Given the description of an element on the screen output the (x, y) to click on. 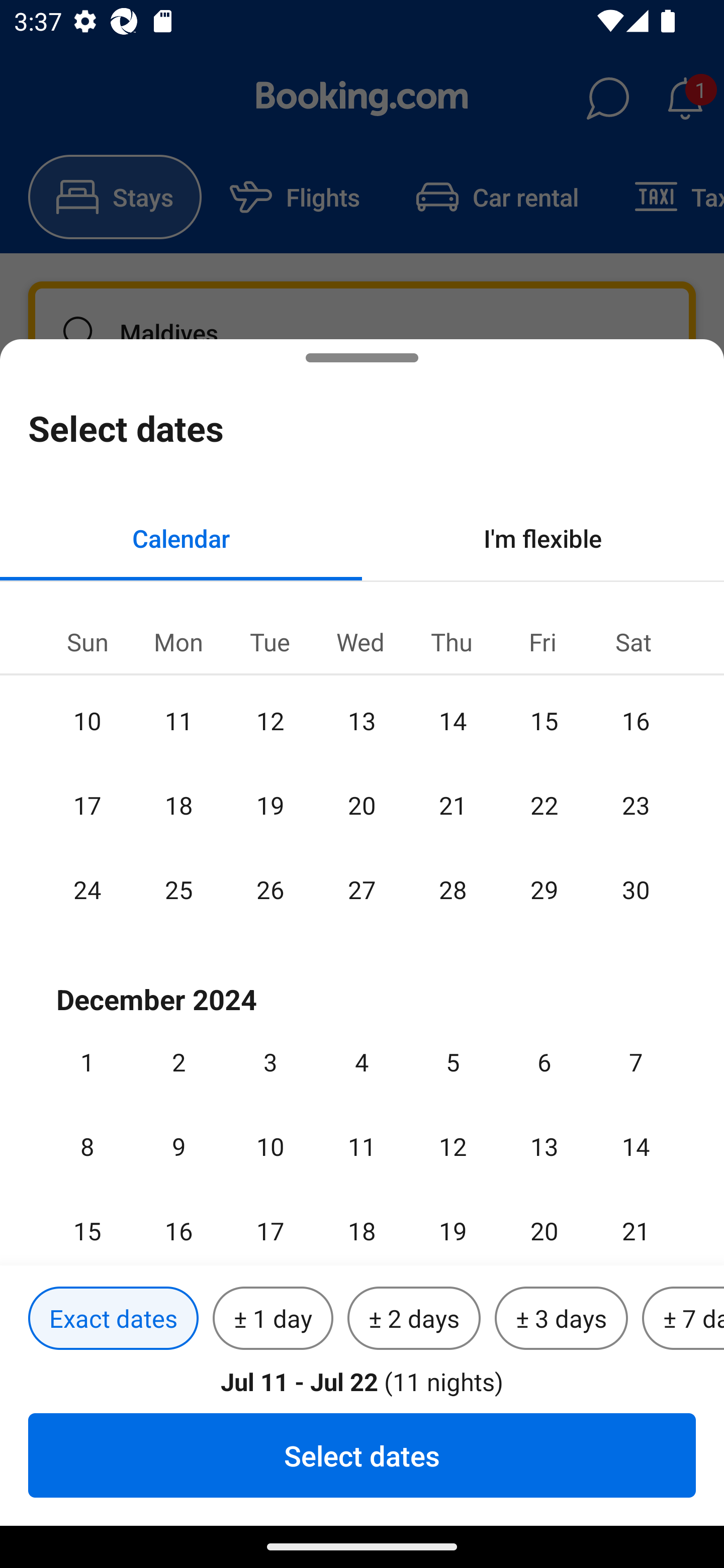
I'm flexible (543, 537)
Exact dates (113, 1318)
± 1 day (272, 1318)
± 2 days (413, 1318)
± 3 days (560, 1318)
± 7 days (683, 1318)
Select dates (361, 1454)
